Given the description of an element on the screen output the (x, y) to click on. 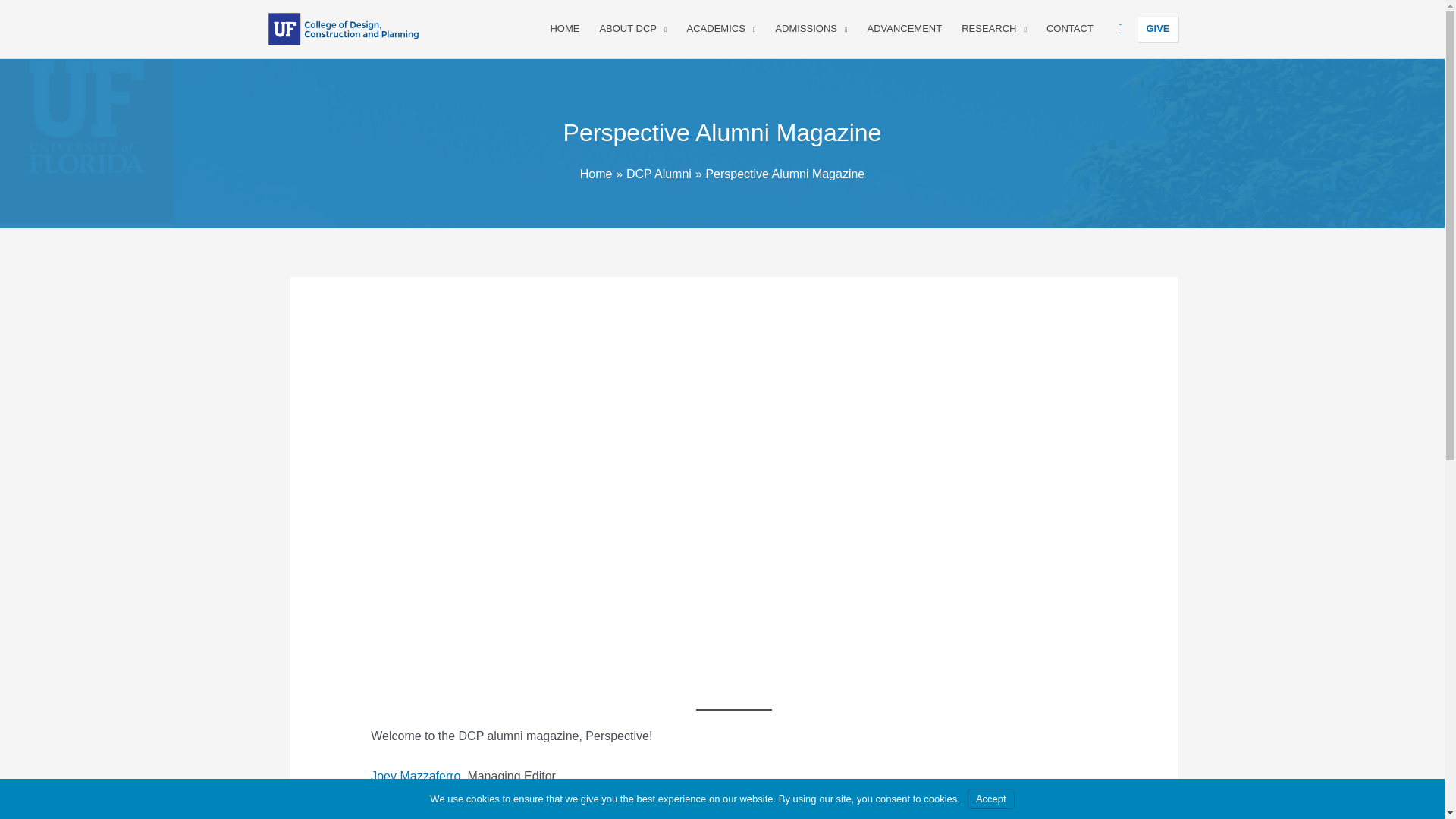
ABOUT DCP (633, 28)
ADVANCEMENT (904, 28)
HOME (564, 28)
RESEARCH (994, 28)
ACADEMICS (721, 28)
ADMISSIONS (811, 28)
